Given the description of an element on the screen output the (x, y) to click on. 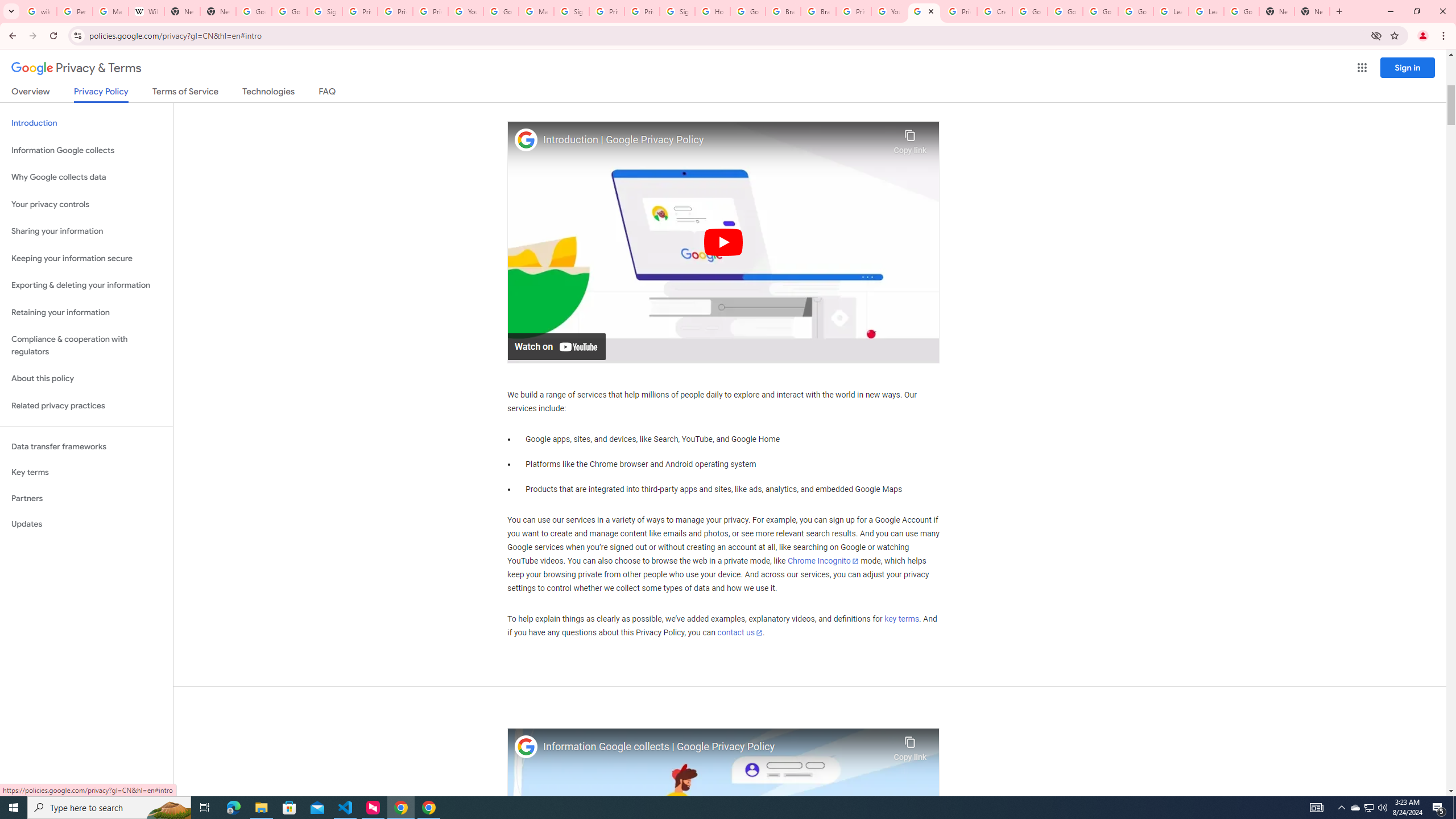
Sign in - Google Accounts (324, 11)
Sharing your information (86, 230)
Data transfer frameworks (86, 446)
Terms of Service (184, 93)
Introduction | Google Privacy Policy (715, 139)
Partners (86, 497)
Wikipedia:Edit requests - Wikipedia (145, 11)
Brand Resource Center (817, 11)
Why Google collects data (86, 176)
